Given the description of an element on the screen output the (x, y) to click on. 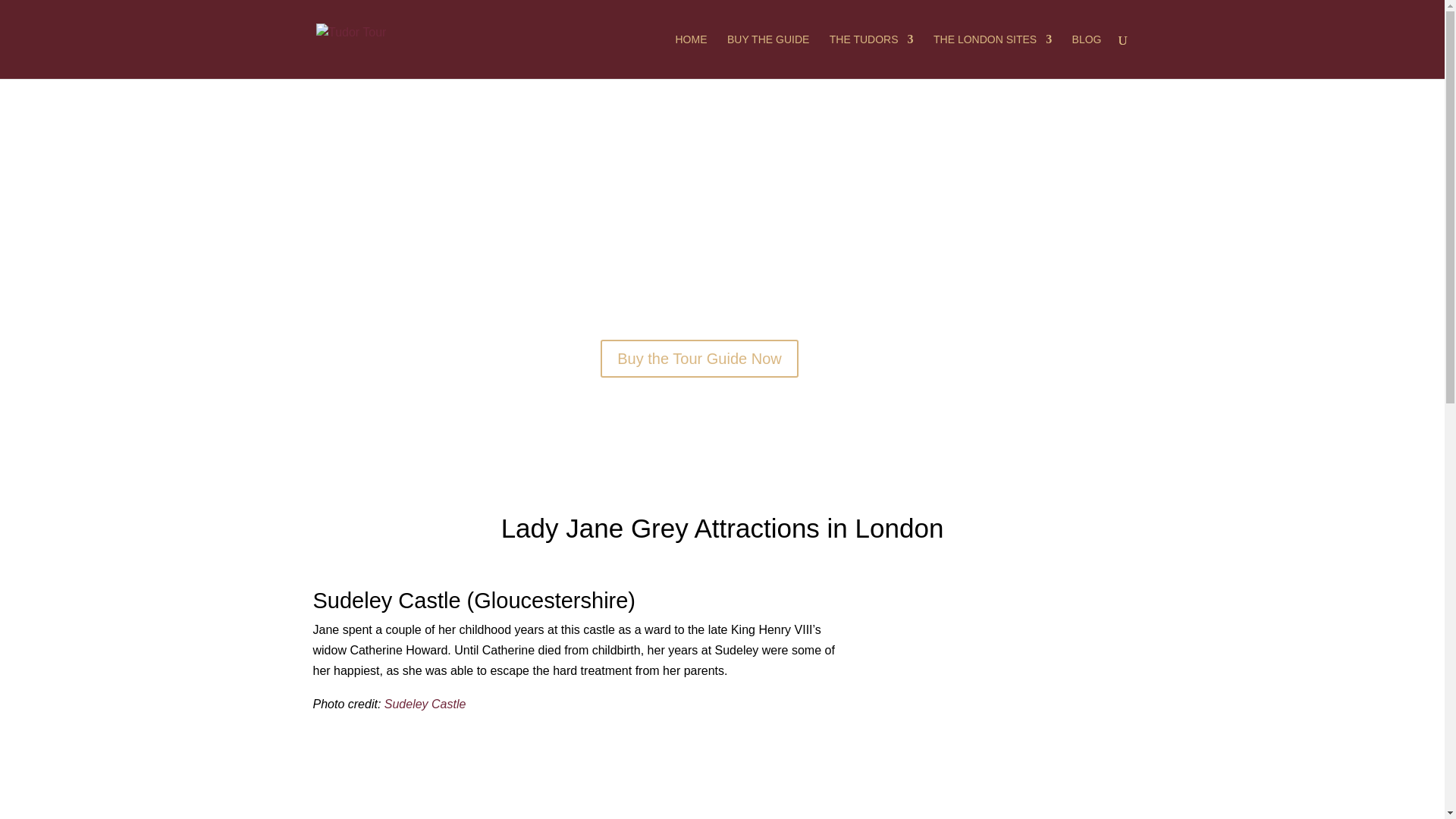
BUY THE GUIDE (767, 56)
Buy the Tour Guide Now (698, 358)
THE LONDON SITES (992, 56)
THE TUDORS (871, 56)
Sudeley Castle (424, 703)
Sudeley Castle (424, 703)
